Given the description of an element on the screen output the (x, y) to click on. 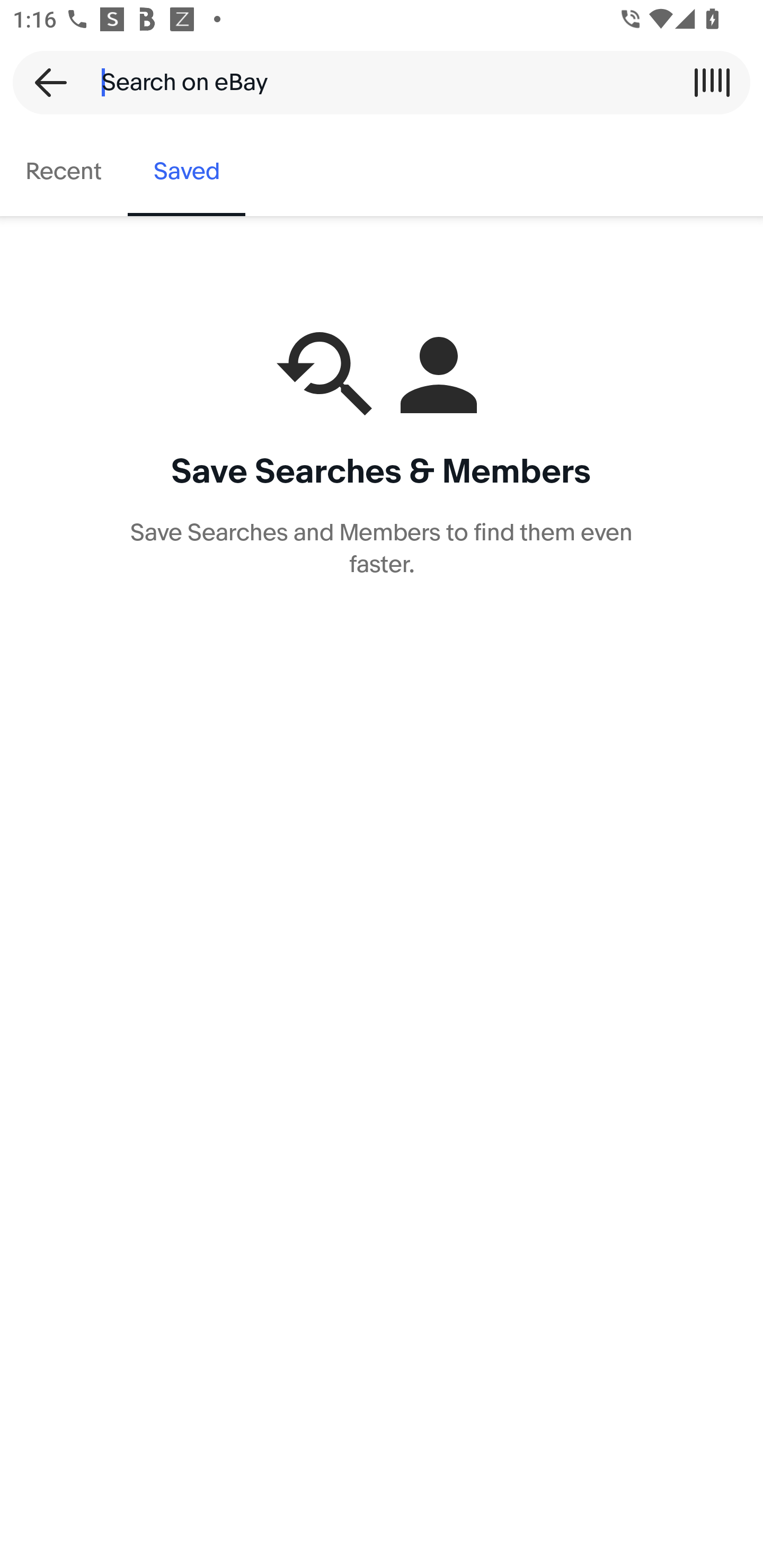
Back (44, 82)
Scan a barcode (711, 82)
Search on eBay (375, 82)
Recent, tab 1 of 2 Recent (63, 171)
